Given the description of an element on the screen output the (x, y) to click on. 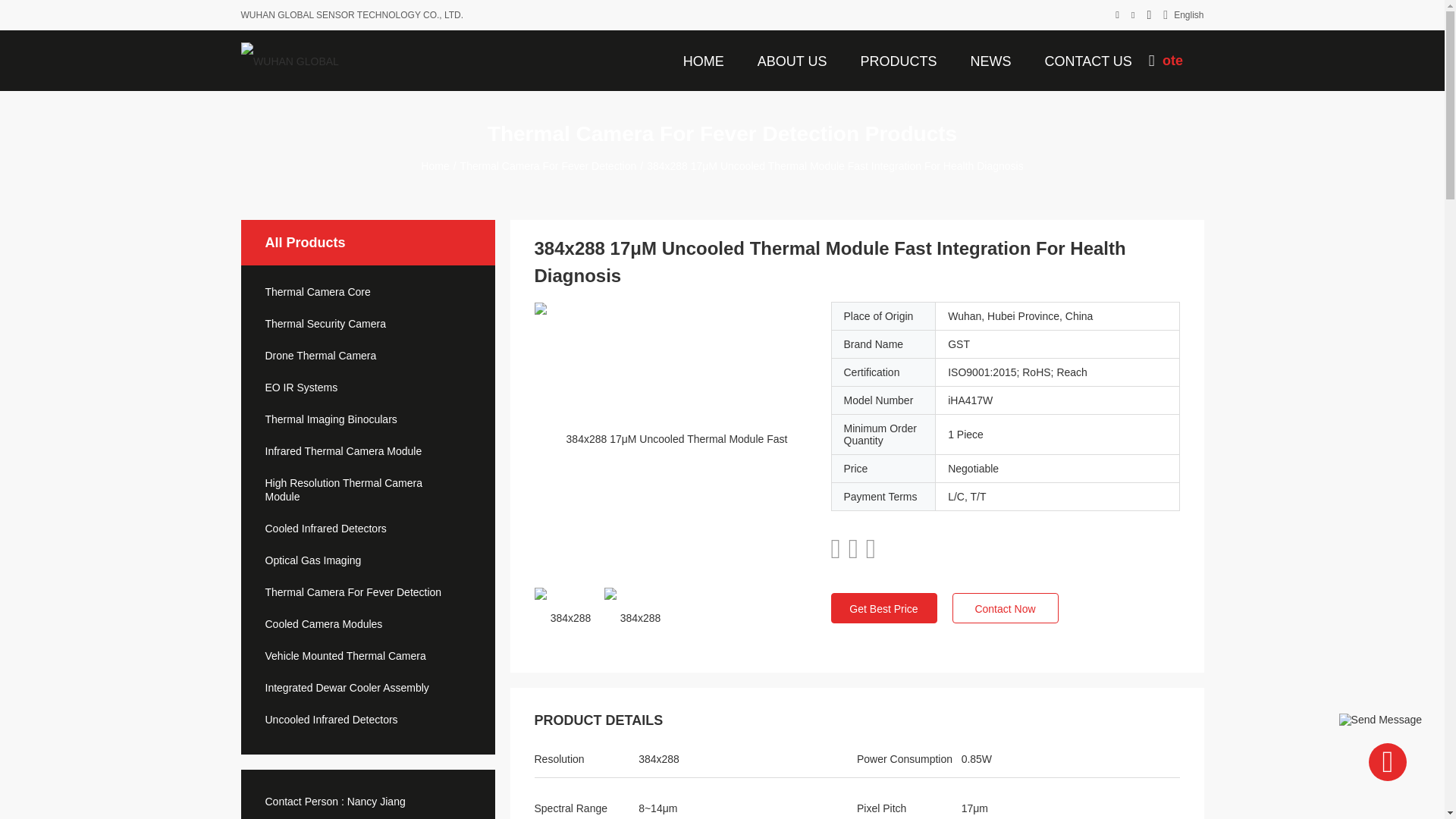
PRODUCTS (897, 60)
ABOUT US (791, 60)
HOME (703, 60)
